Given the description of an element on the screen output the (x, y) to click on. 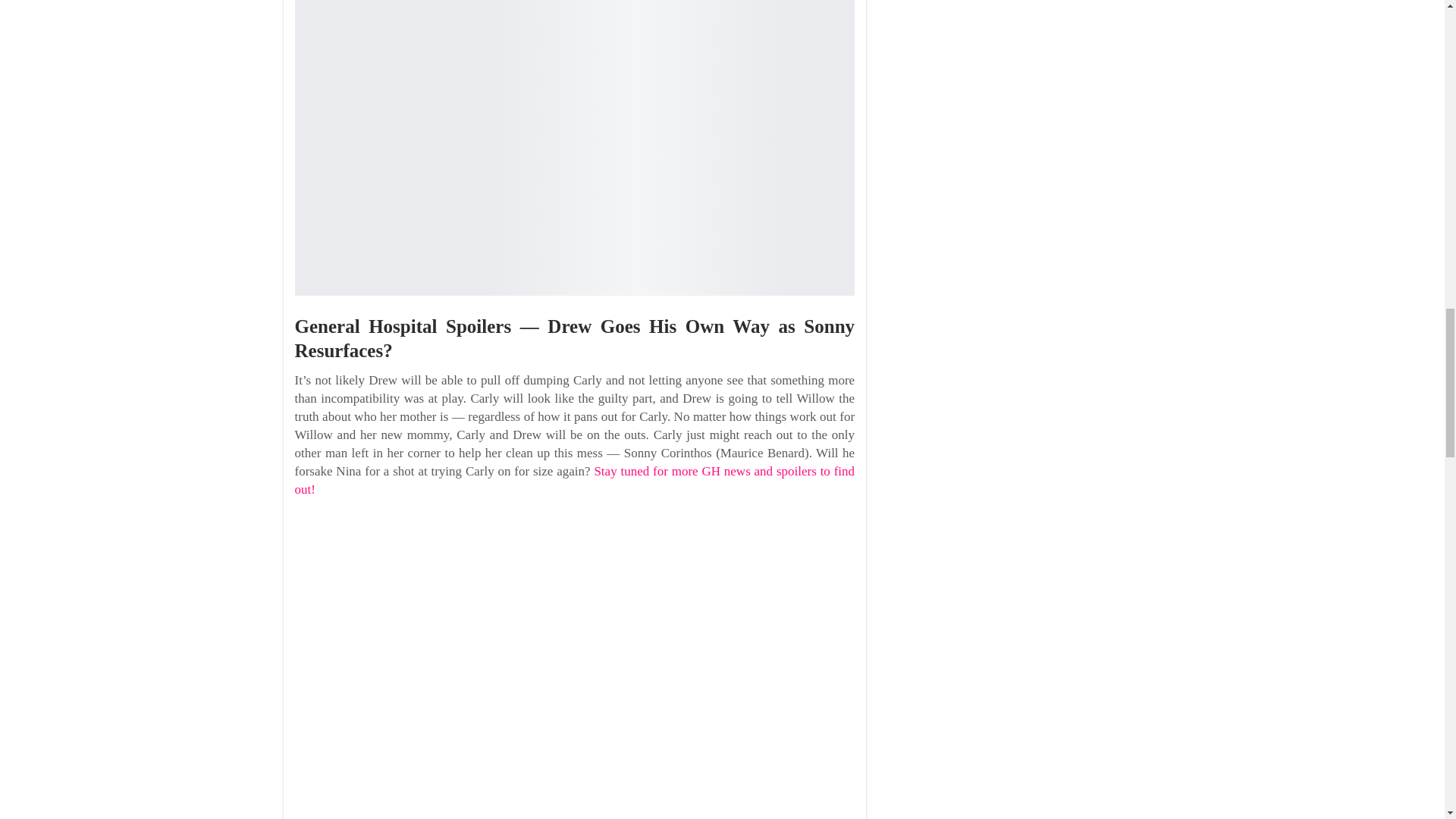
Stay tuned for more GH news and spoilers to find out! (574, 480)
